Given the description of an element on the screen output the (x, y) to click on. 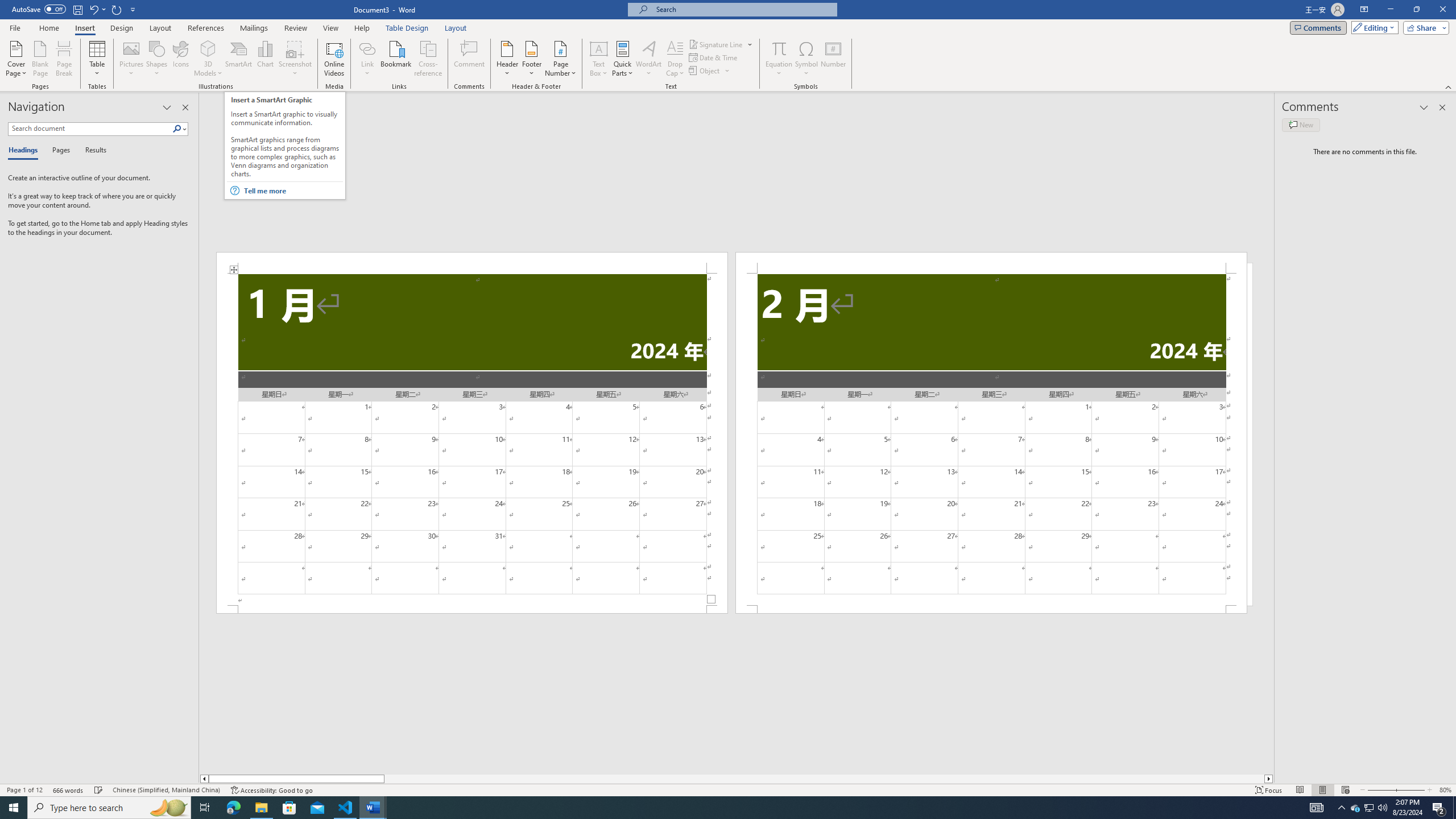
Table (97, 58)
3D Models (208, 58)
Signature Line (716, 44)
Equation (778, 58)
Link (367, 58)
Page right (823, 778)
Page Break (63, 58)
